Given the description of an element on the screen output the (x, y) to click on. 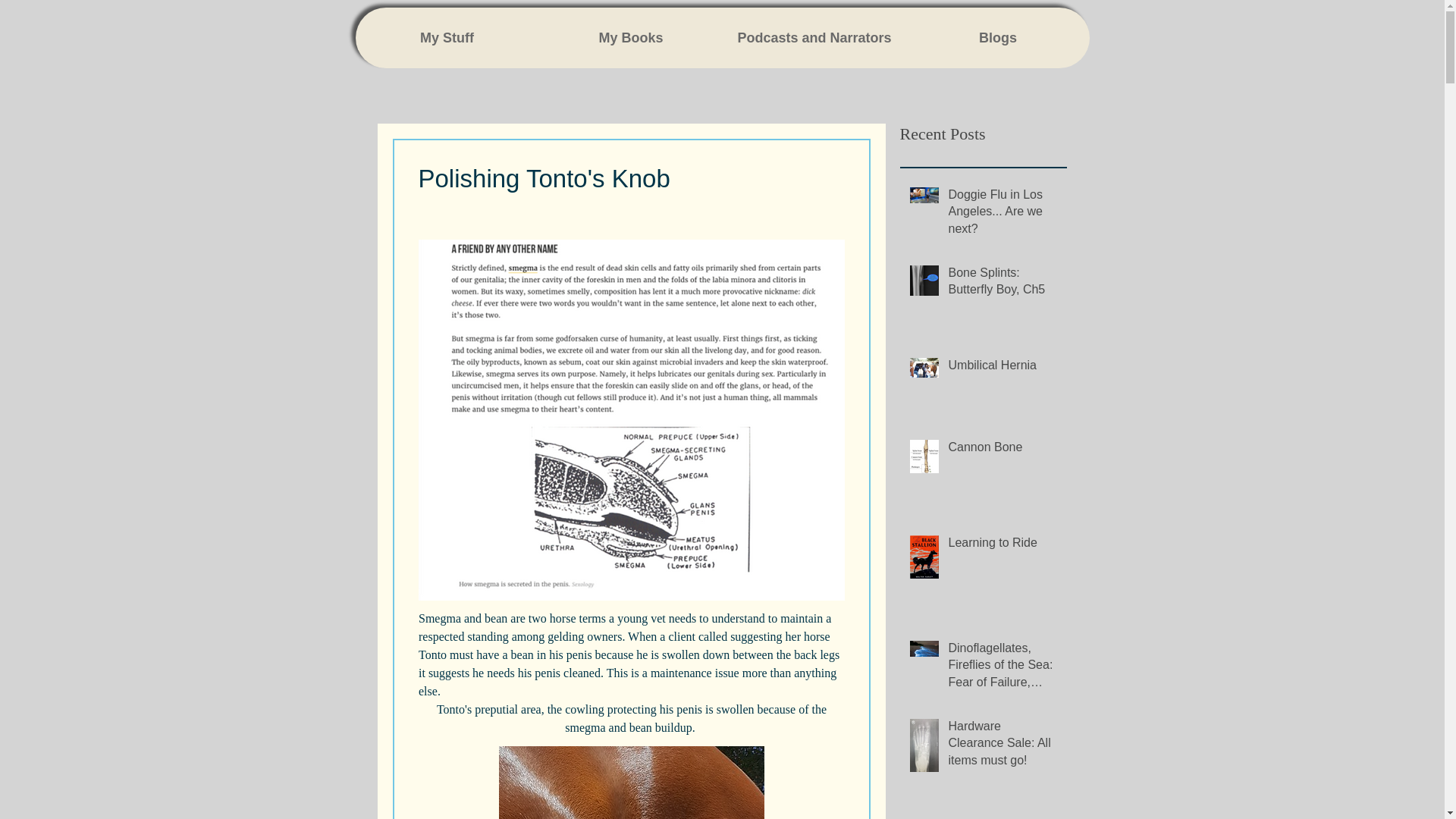
Umbilical Hernia (1002, 368)
Blogs (997, 37)
Podcasts and Narrators (813, 37)
My Stuff (446, 37)
Learning to Ride (1002, 545)
My Books (630, 37)
Bone Splints: Butterfly Boy, Ch5 (1002, 284)
Cannon Bone (1002, 449)
Hardware Clearance Sale: All items must go! (1002, 746)
Doggie Flu in Los Angeles... Are we next? (1002, 214)
